Given the description of an element on the screen output the (x, y) to click on. 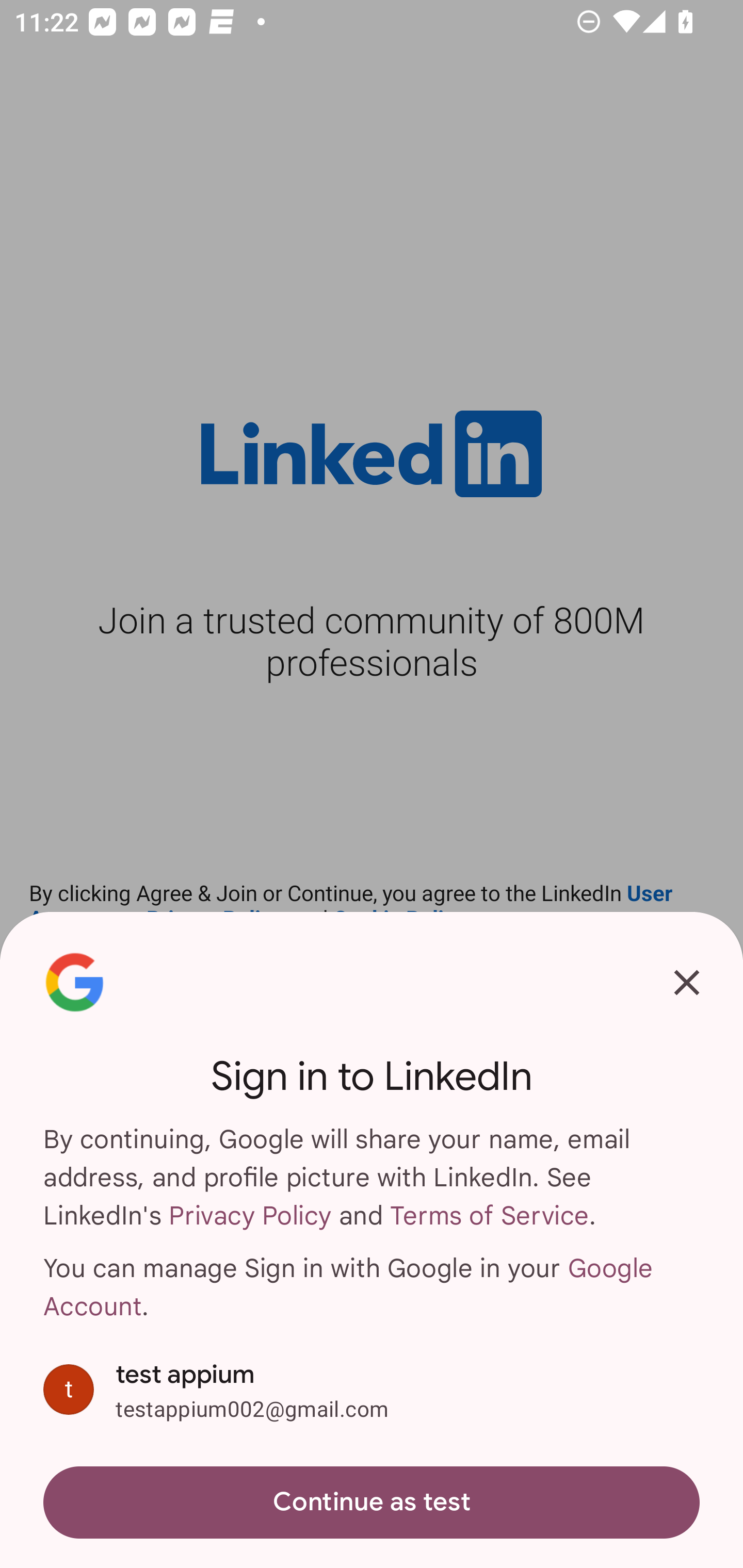
Cancel (686, 982)
Continue as test (371, 1502)
